Given the description of an element on the screen output the (x, y) to click on. 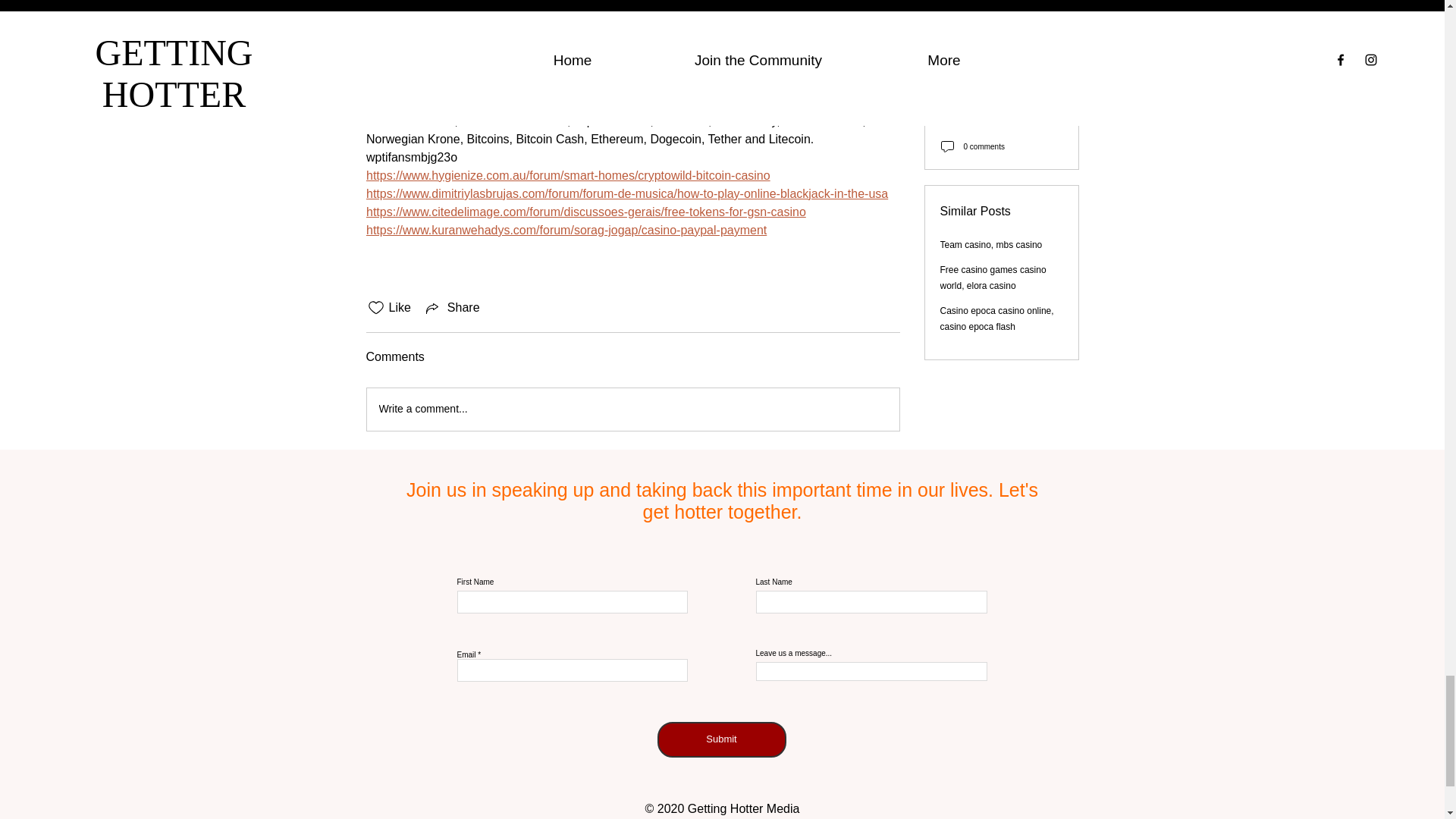
Submit (721, 739)
Write a comment... (632, 409)
Share (451, 307)
